Given the description of an element on the screen output the (x, y) to click on. 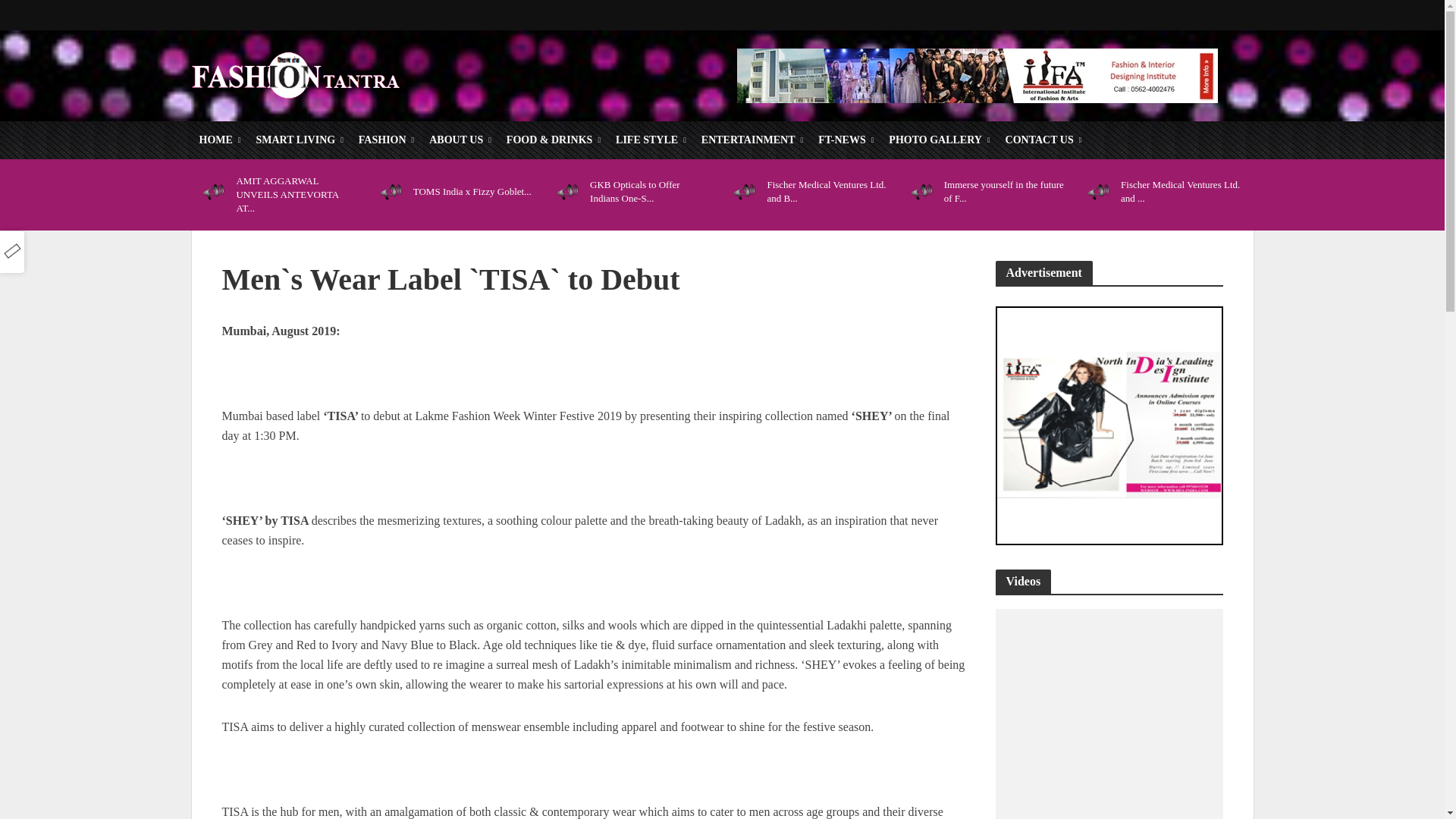
LIFE STYLE (651, 139)
AMIT AGGARWAL UNVEILS ANTEVORTA AT... (295, 194)
Fischer Medical Ventures Ltd. and B... (826, 190)
HOME (218, 139)
GKB Opticals to Offer Indians One-S... (649, 190)
PHOTO GALLERY (938, 139)
ENTERTAINMENT (752, 139)
TOMS India x Fizzy Goblet... (473, 192)
CONTACT US (1043, 139)
Fischer Medical Ventures Ltd. and ... (1181, 190)
